Given the description of an element on the screen output the (x, y) to click on. 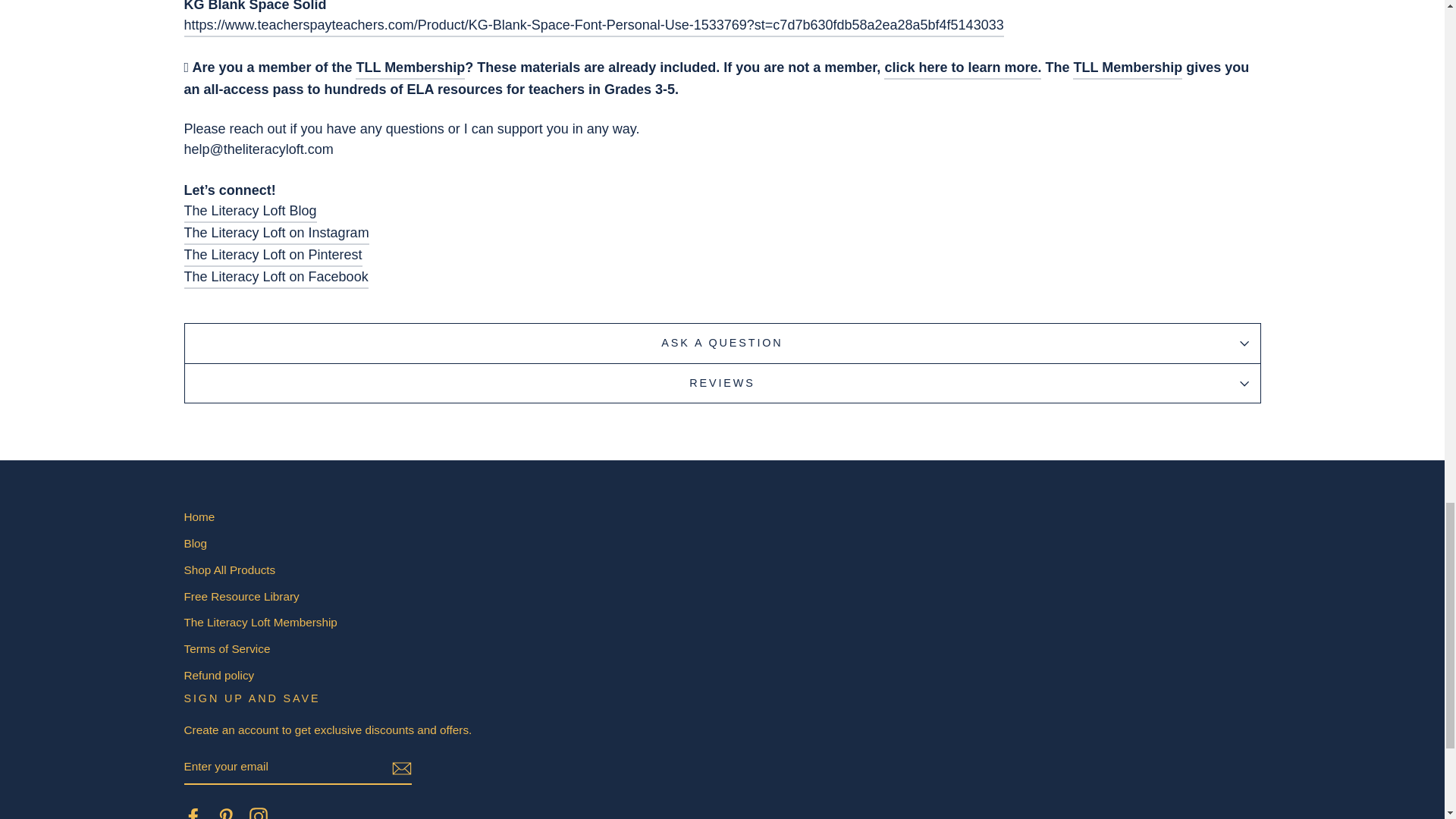
The Literacy Loft on Pinterest (225, 813)
The Literacy Loft on Facebook (192, 813)
The Literacy Loft on Instagram (257, 813)
